Given the description of an element on the screen output the (x, y) to click on. 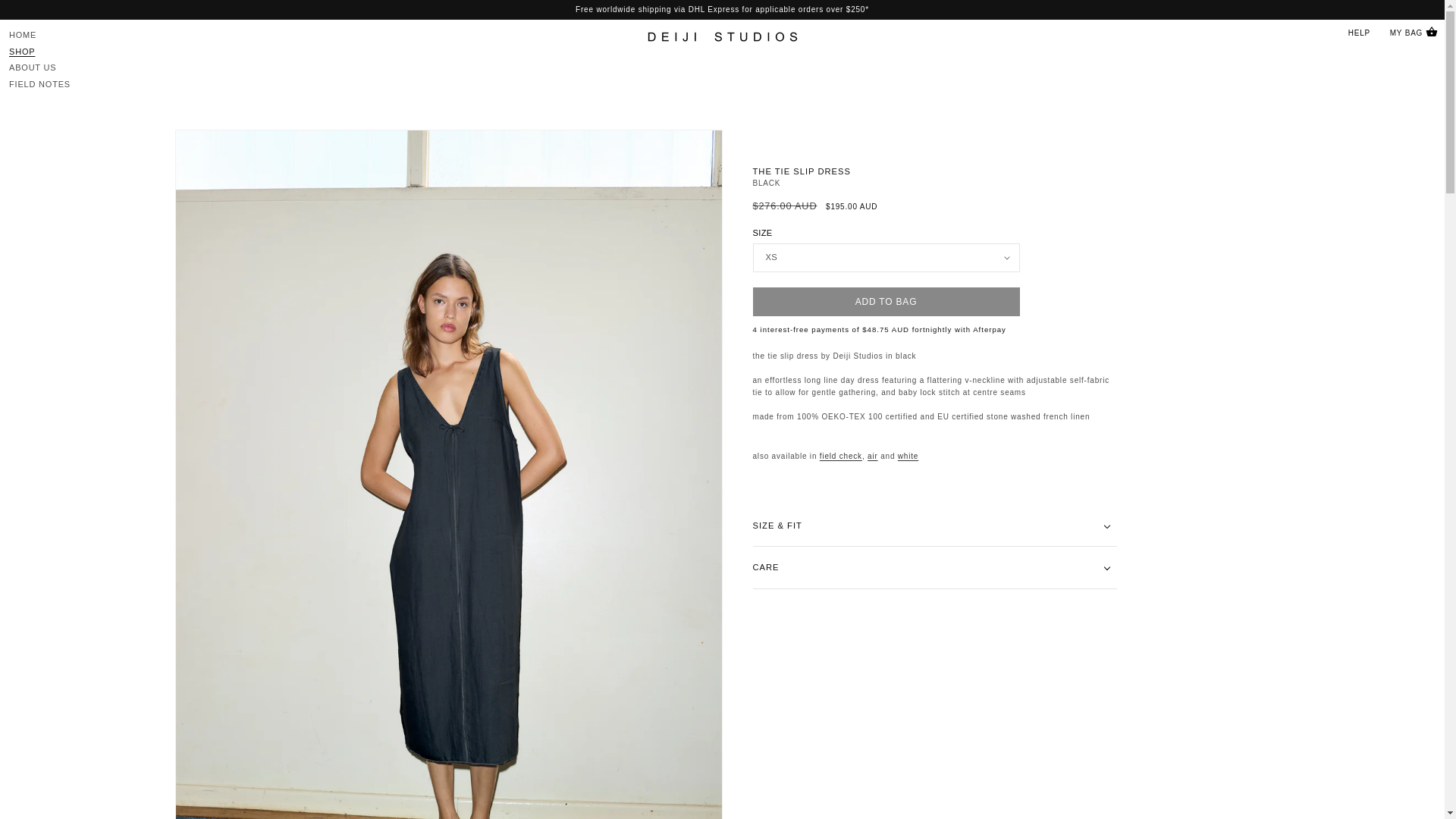
HOME (22, 35)
Skip to content (37, 13)
